Given the description of an element on the screen output the (x, y) to click on. 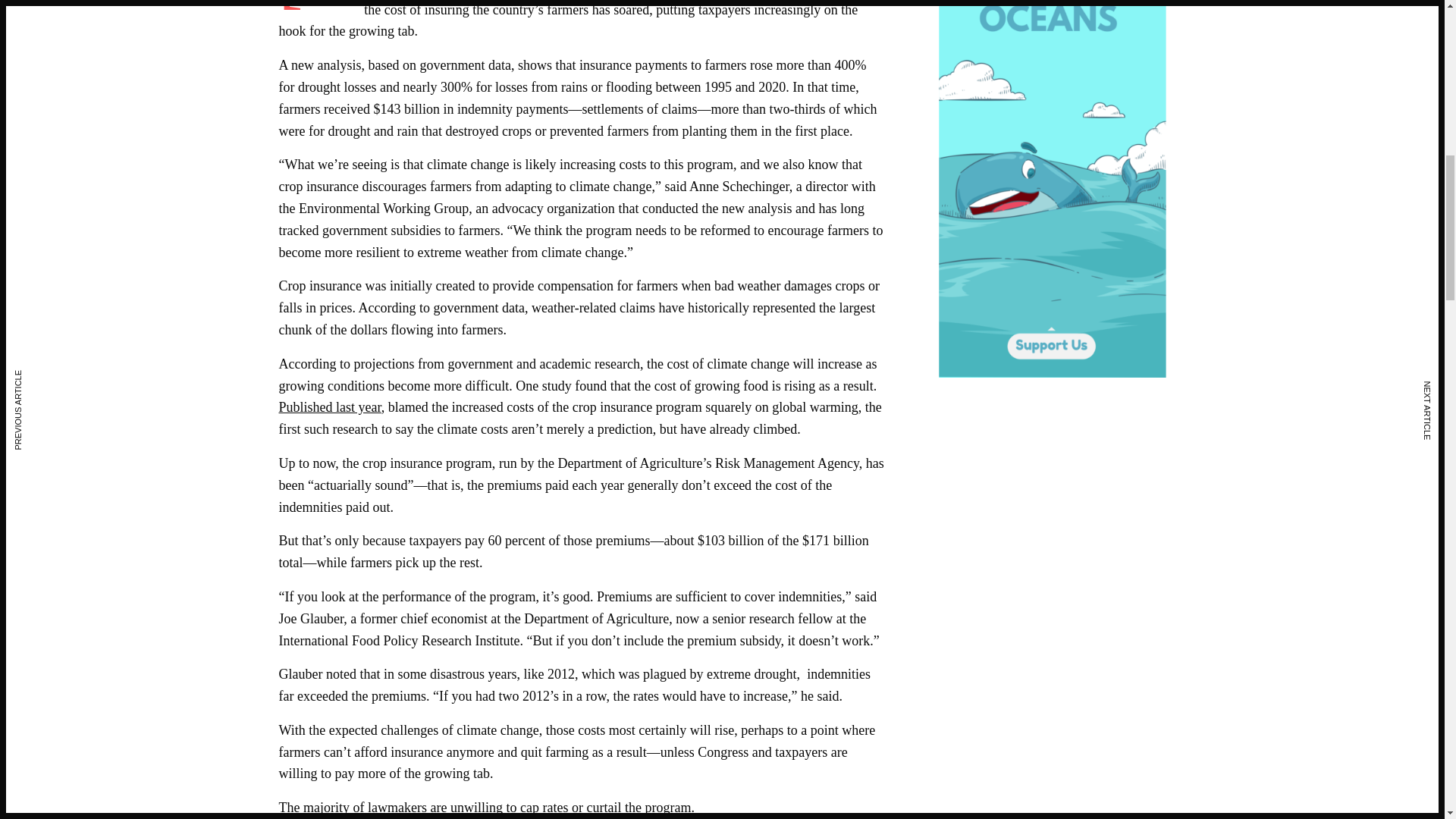
Published last year (330, 406)
